Given the description of an element on the screen output the (x, y) to click on. 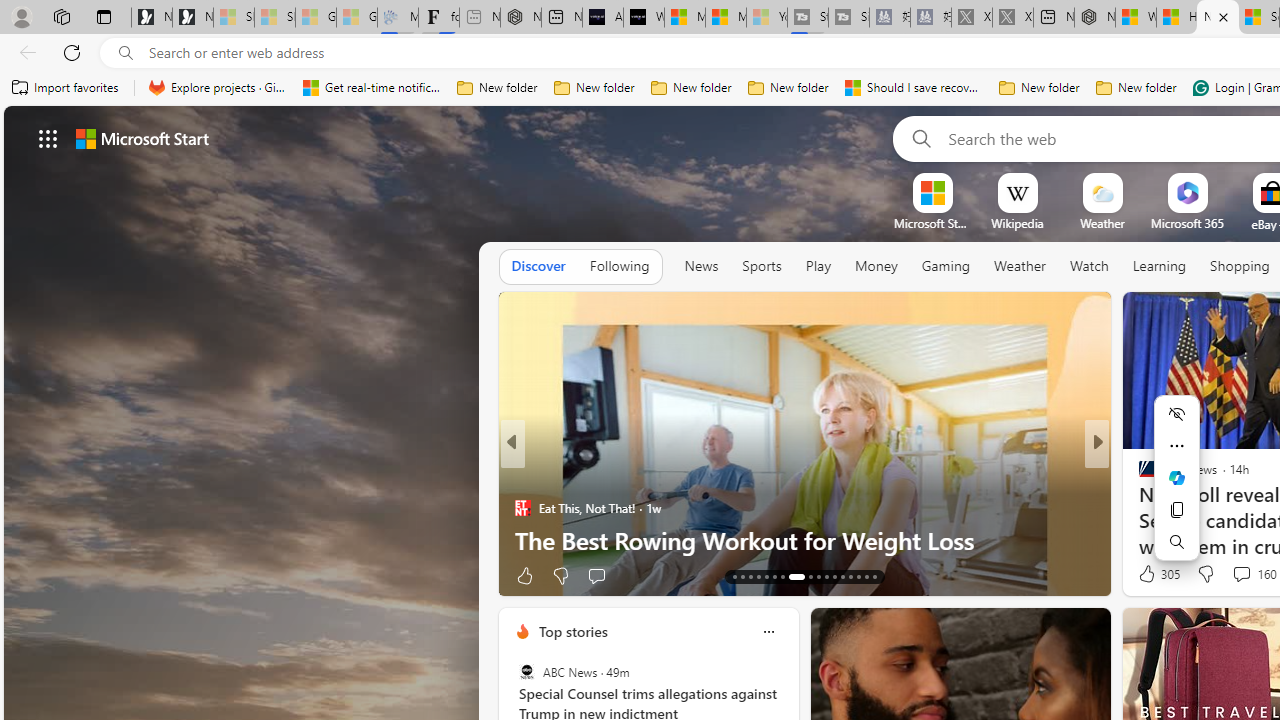
3k Like (1148, 574)
386 Like (1151, 574)
Play (818, 267)
Should I save recovered Word documents? - Microsoft Support (913, 88)
AutomationID: tab-15 (750, 576)
63 Like (532, 574)
Watch (1089, 267)
Ad Choice (479, 575)
View comments 1k Comment (1236, 574)
Sports (761, 267)
Streaming Coverage | T3 - Sleeping (808, 17)
Nordace - My Account (1094, 17)
View comments 107 Comment (1247, 574)
